Given the description of an element on the screen output the (x, y) to click on. 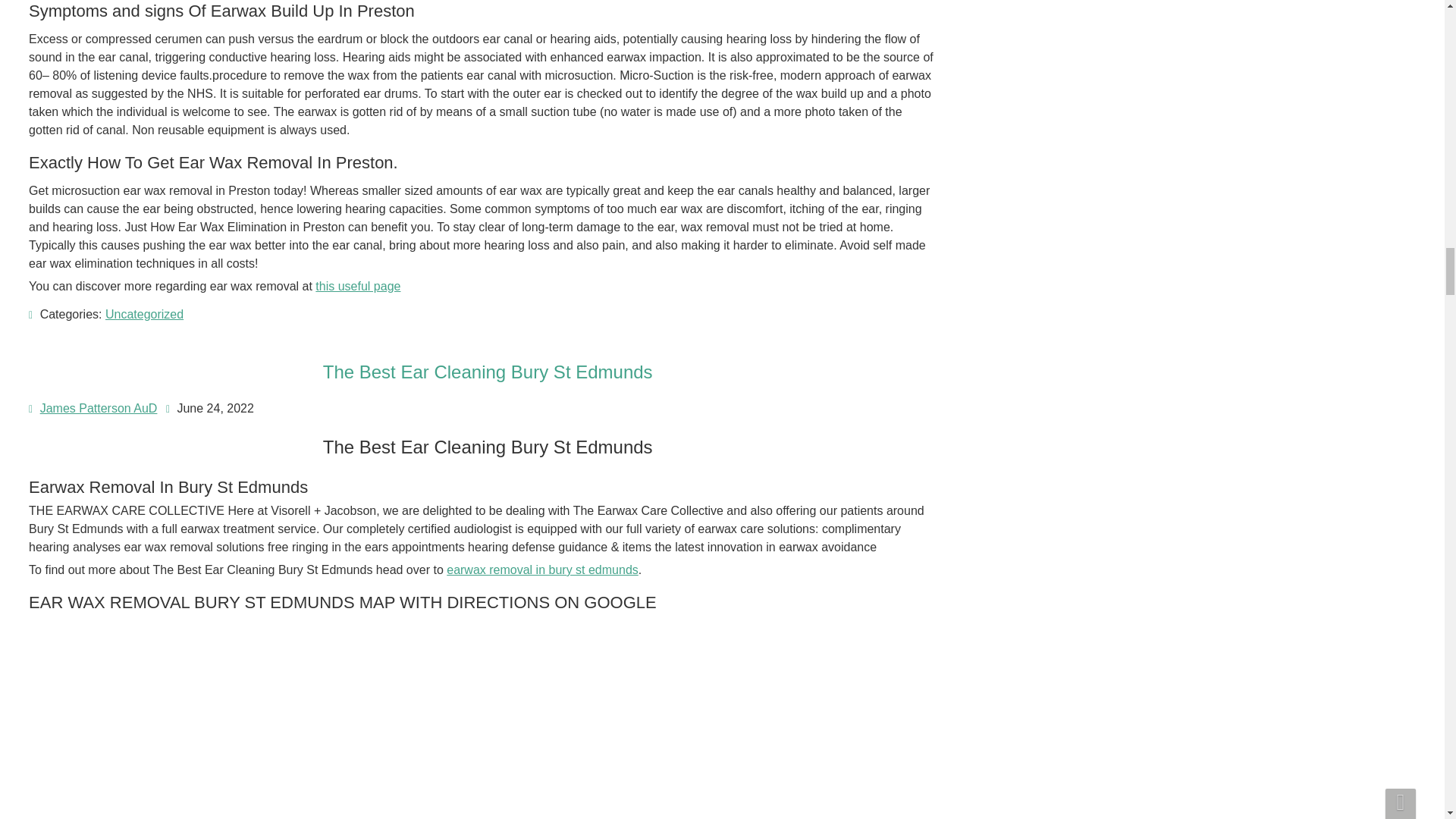
Posts by James Patterson AuD (98, 408)
earwax removal in bury st edmunds (542, 569)
The Best Ear Cleaning Bury St Edmunds (487, 371)
The Best Ear Cleaning Bury St Edmunds (487, 371)
this useful page (357, 286)
microsuction bury st edmunds (180, 721)
James Patterson AuD (98, 408)
Uncategorized (143, 314)
